Given the description of an element on the screen output the (x, y) to click on. 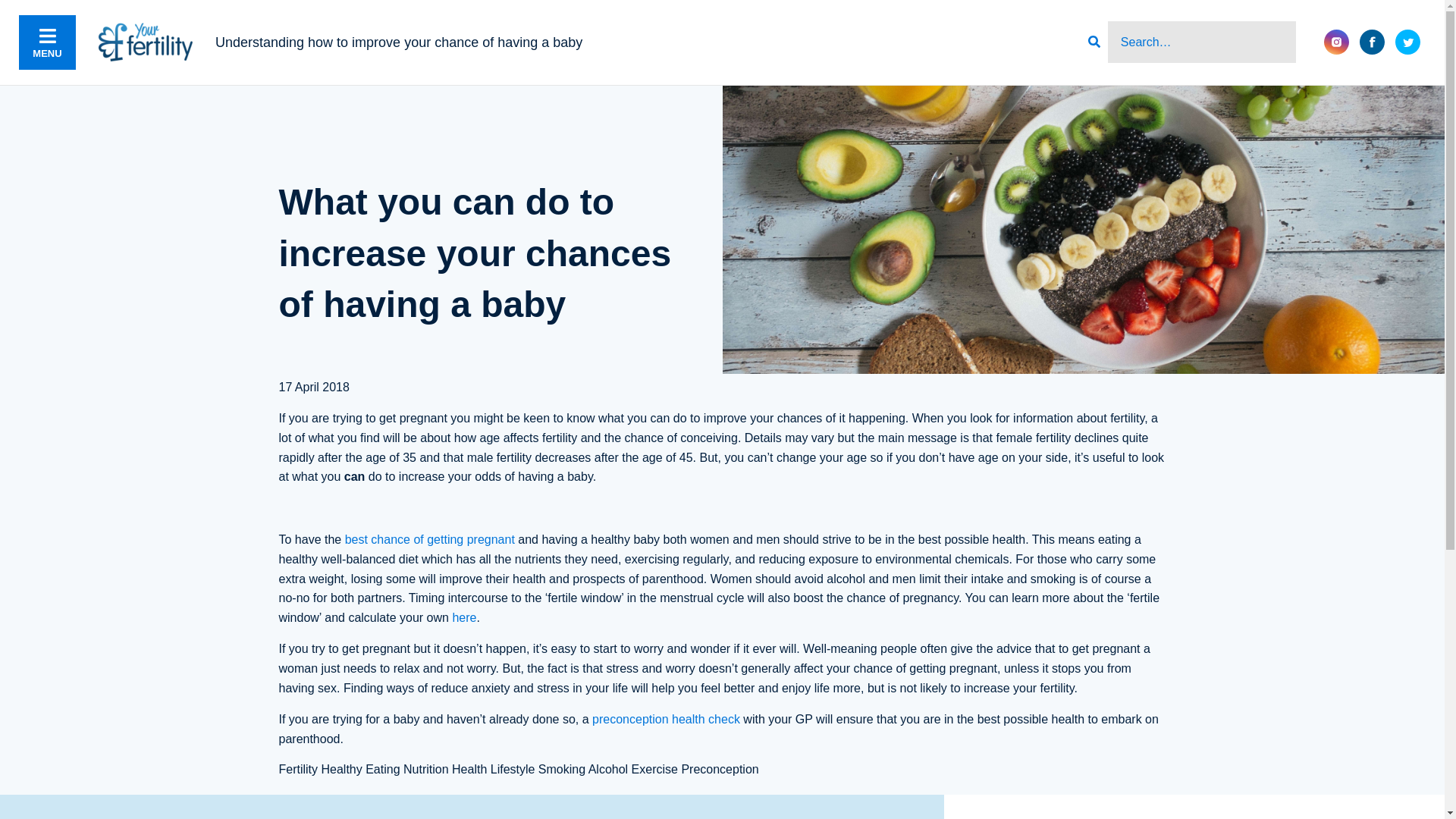
Search (1201, 42)
MENU (46, 42)
